Given the description of an element on the screen output the (x, y) to click on. 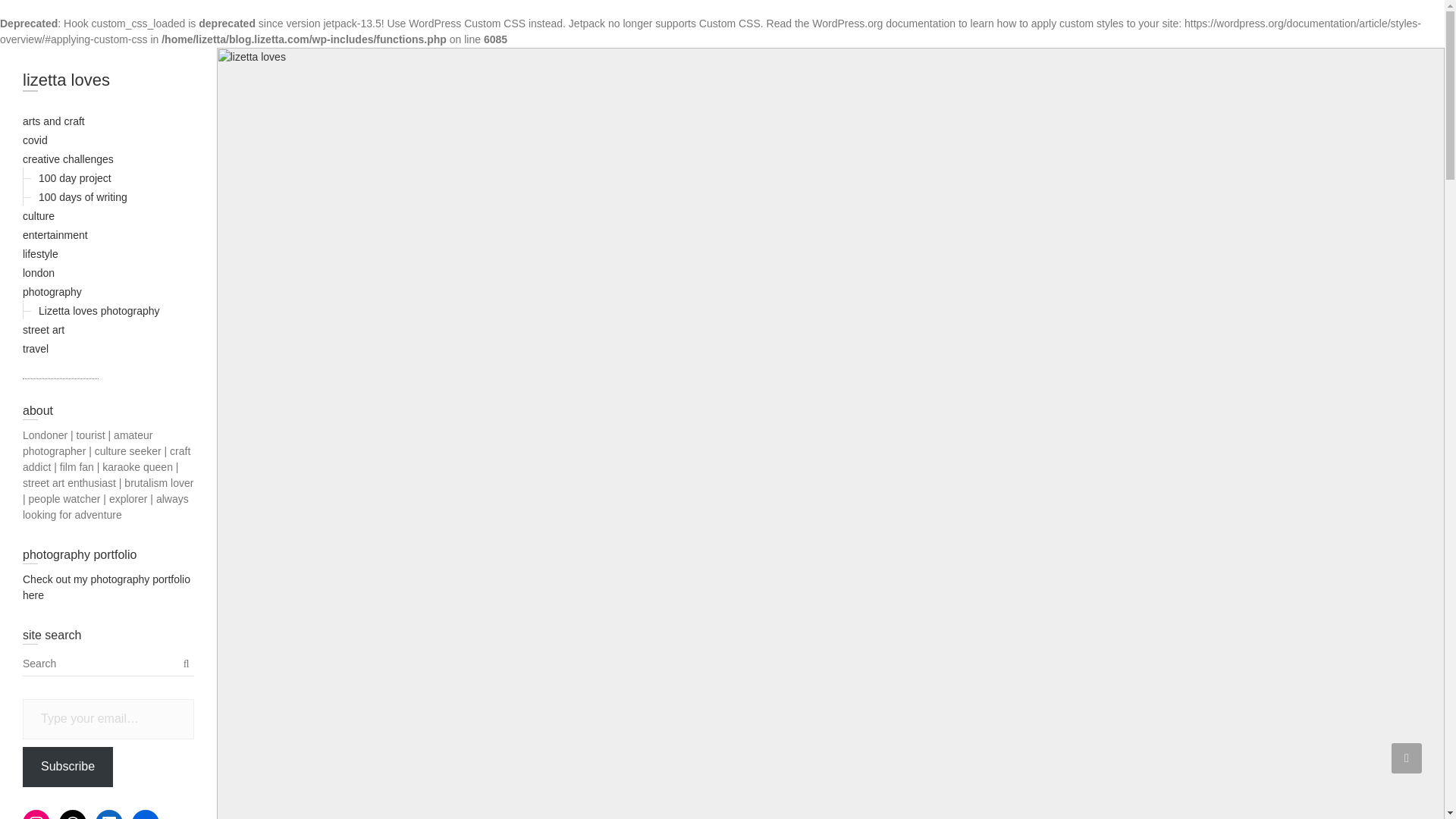
street art (43, 329)
lizetta loves (108, 82)
creative challenges (68, 159)
culture (39, 215)
travel (35, 348)
entertainment (55, 234)
Please fill in this field. (108, 719)
photography (52, 291)
london (39, 272)
Lizetta loves photography (99, 310)
